Given the description of an element on the screen output the (x, y) to click on. 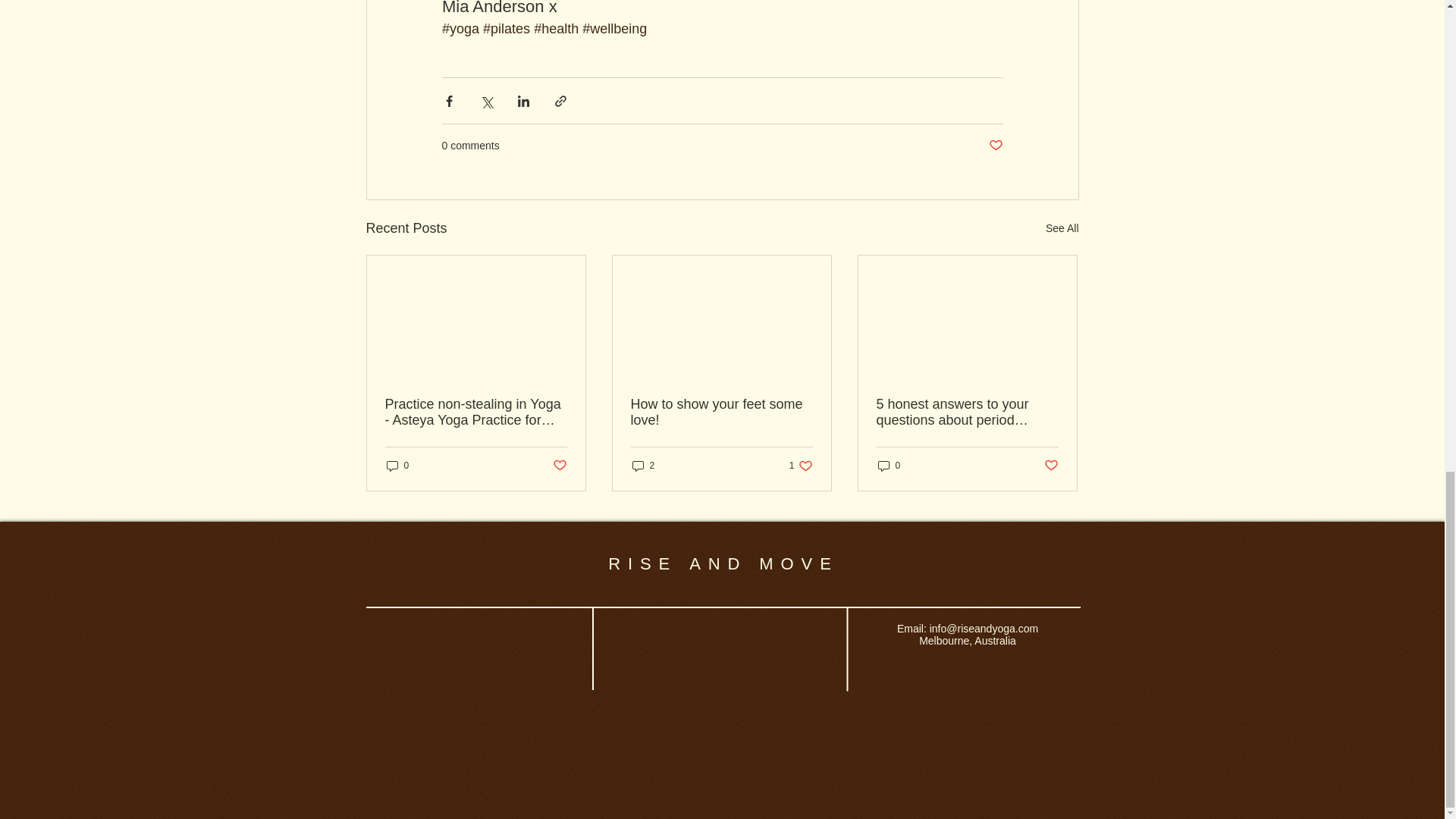
See All (1061, 228)
Post not marked as liked (995, 145)
